Given the description of an element on the screen output the (x, y) to click on. 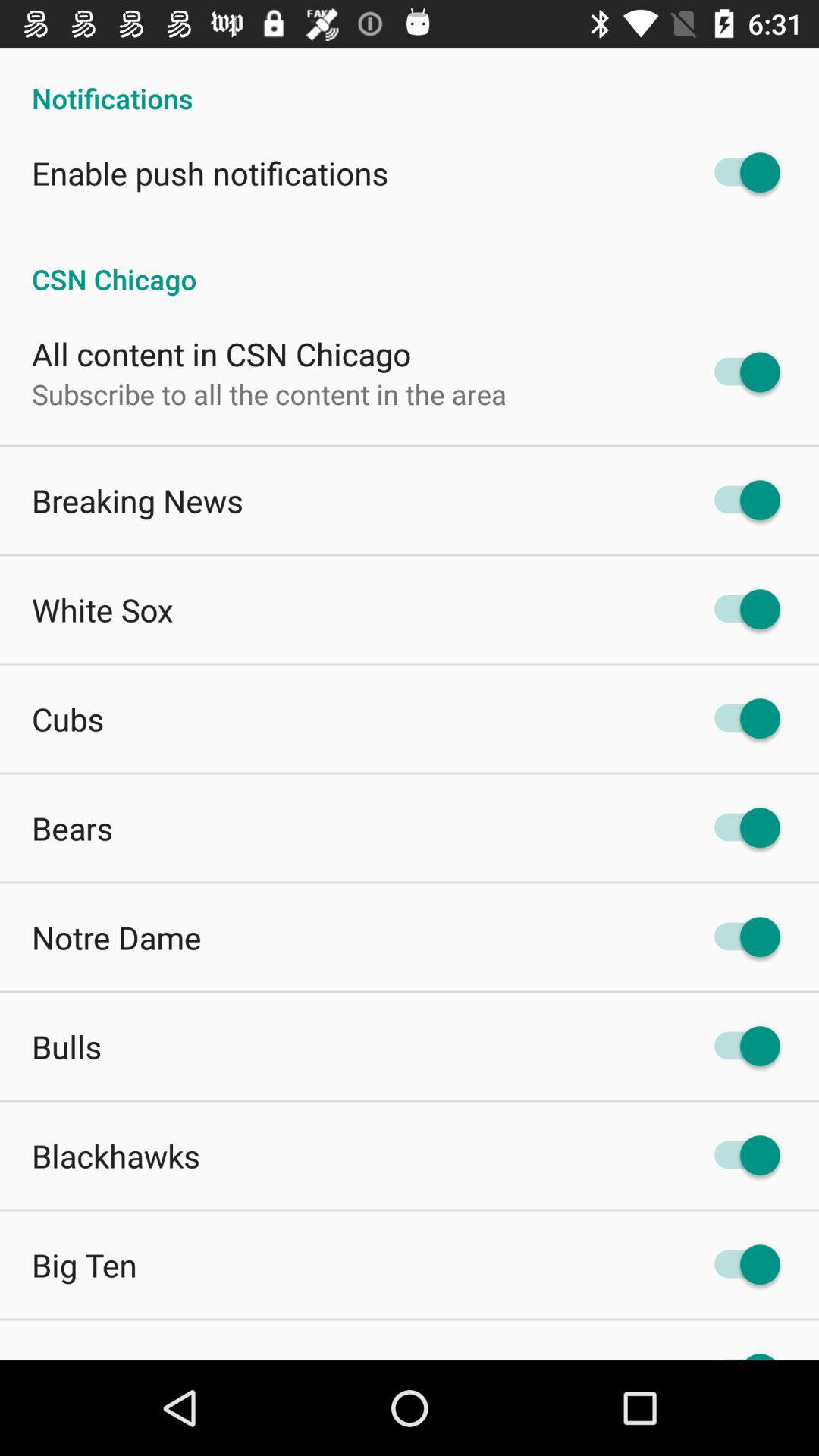
swipe to white sox item (102, 609)
